Given the description of an element on the screen output the (x, y) to click on. 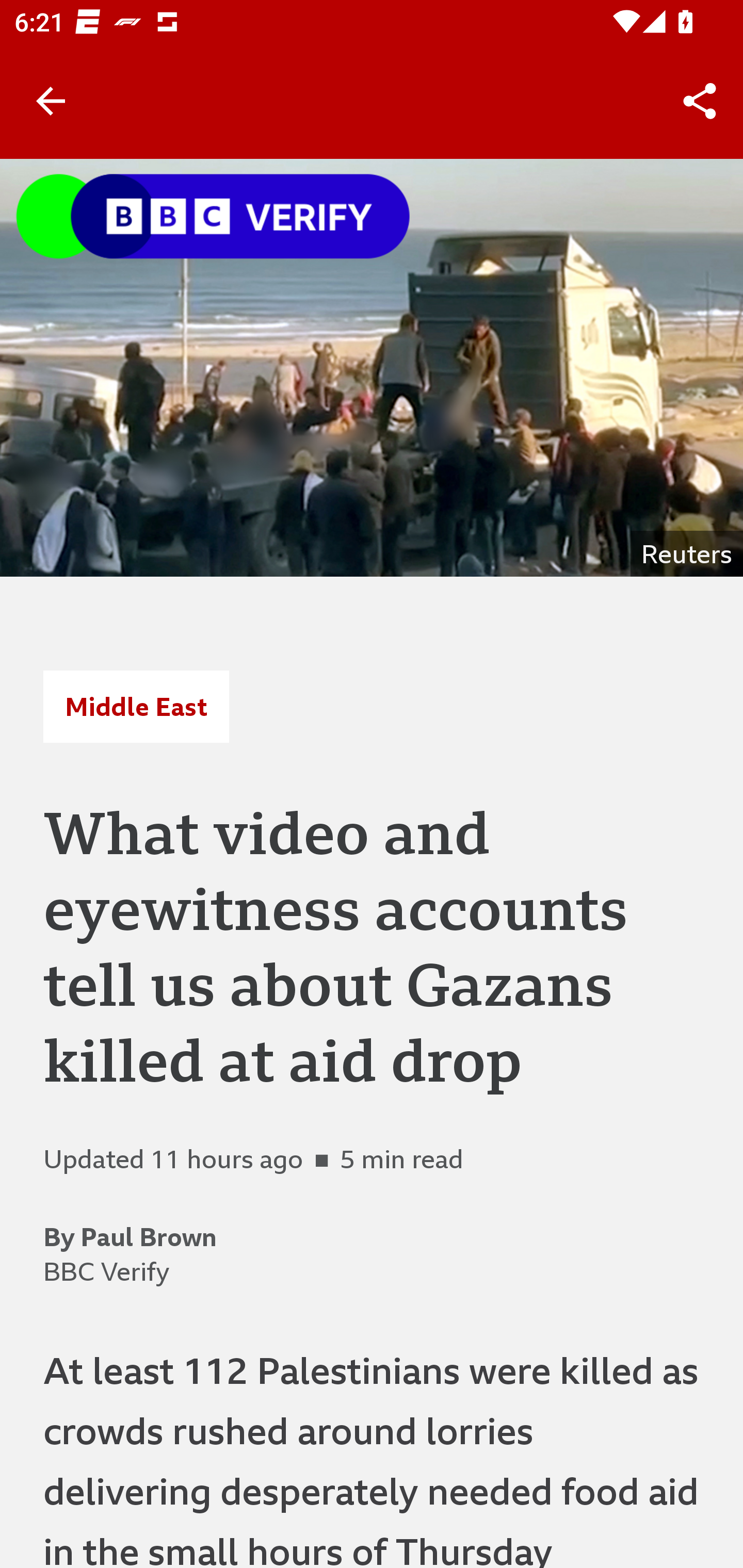
Back (50, 101)
Share (699, 101)
Middle East (135, 706)
